Given the description of an element on the screen output the (x, y) to click on. 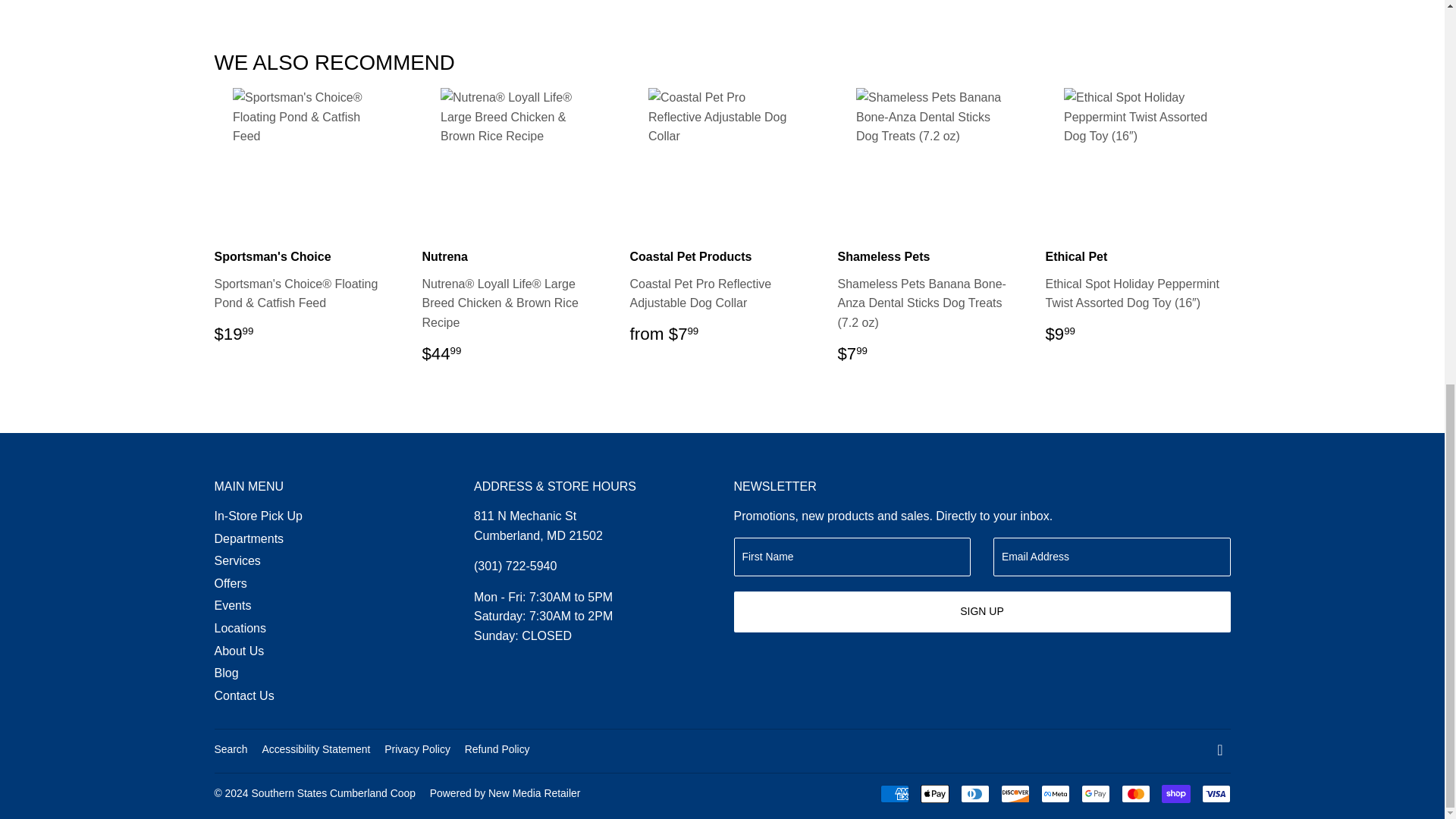
Google Pay (1095, 793)
American Express (893, 793)
Diners Club (973, 793)
New Media Retailer (504, 793)
Shop Pay (1176, 793)
Mastercard (1135, 793)
Meta Pay (1054, 793)
Discover (1015, 793)
Apple Pay (934, 793)
Visa (1215, 793)
